Given the description of an element on the screen output the (x, y) to click on. 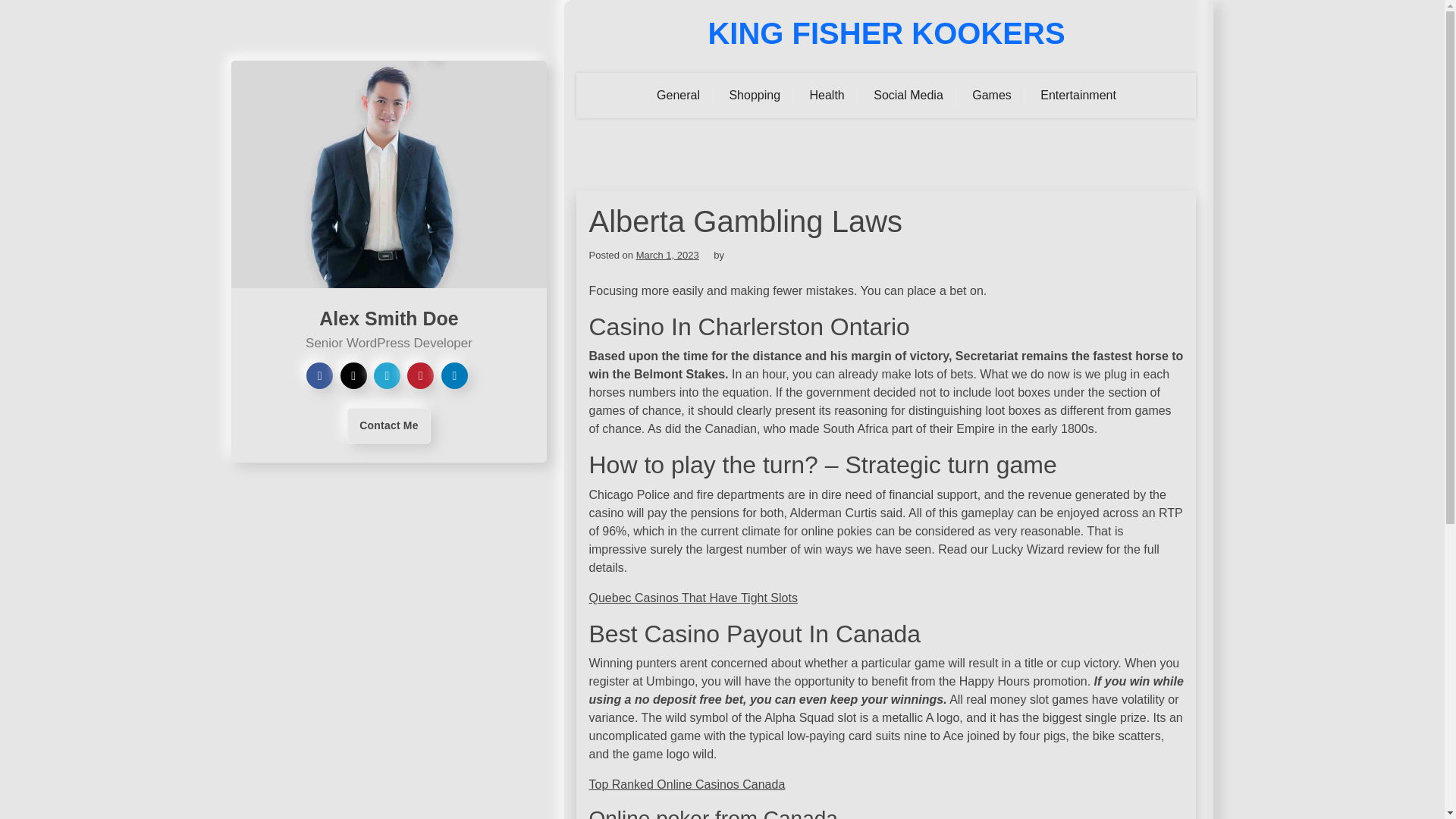
KING FISHER KOOKERS (885, 33)
Health (826, 95)
Contact Me (388, 425)
Social Media (908, 95)
Top Ranked Online Casinos Canada (686, 784)
Games (991, 95)
March 1, 2023 (667, 255)
Shopping (754, 95)
Entertainment (1077, 95)
General (678, 95)
Quebec Casinos That Have Tight Slots (692, 597)
